Given the description of an element on the screen output the (x, y) to click on. 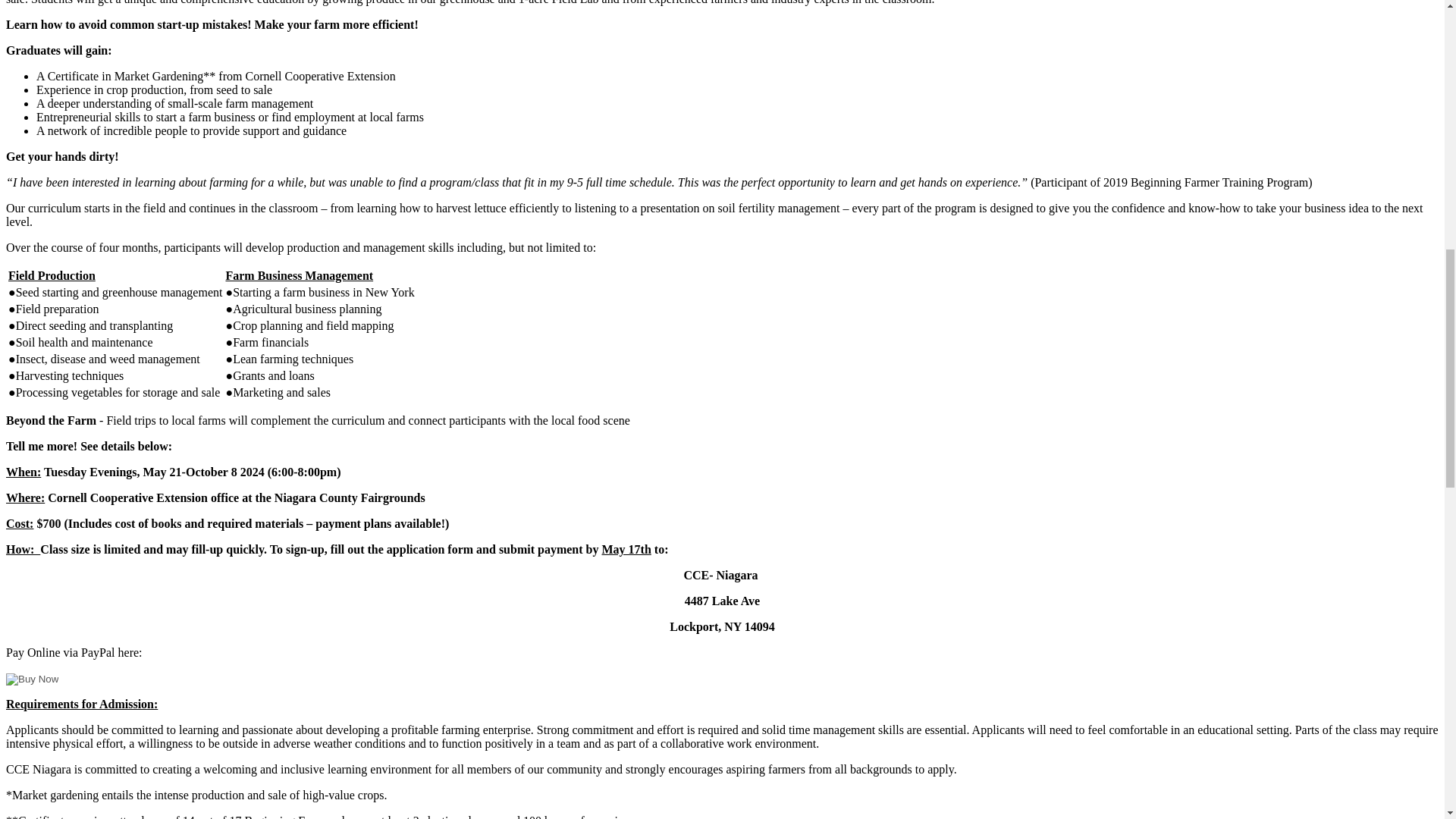
PayPal - The safer, easier way to pay online! (31, 679)
